Given the description of an element on the screen output the (x, y) to click on. 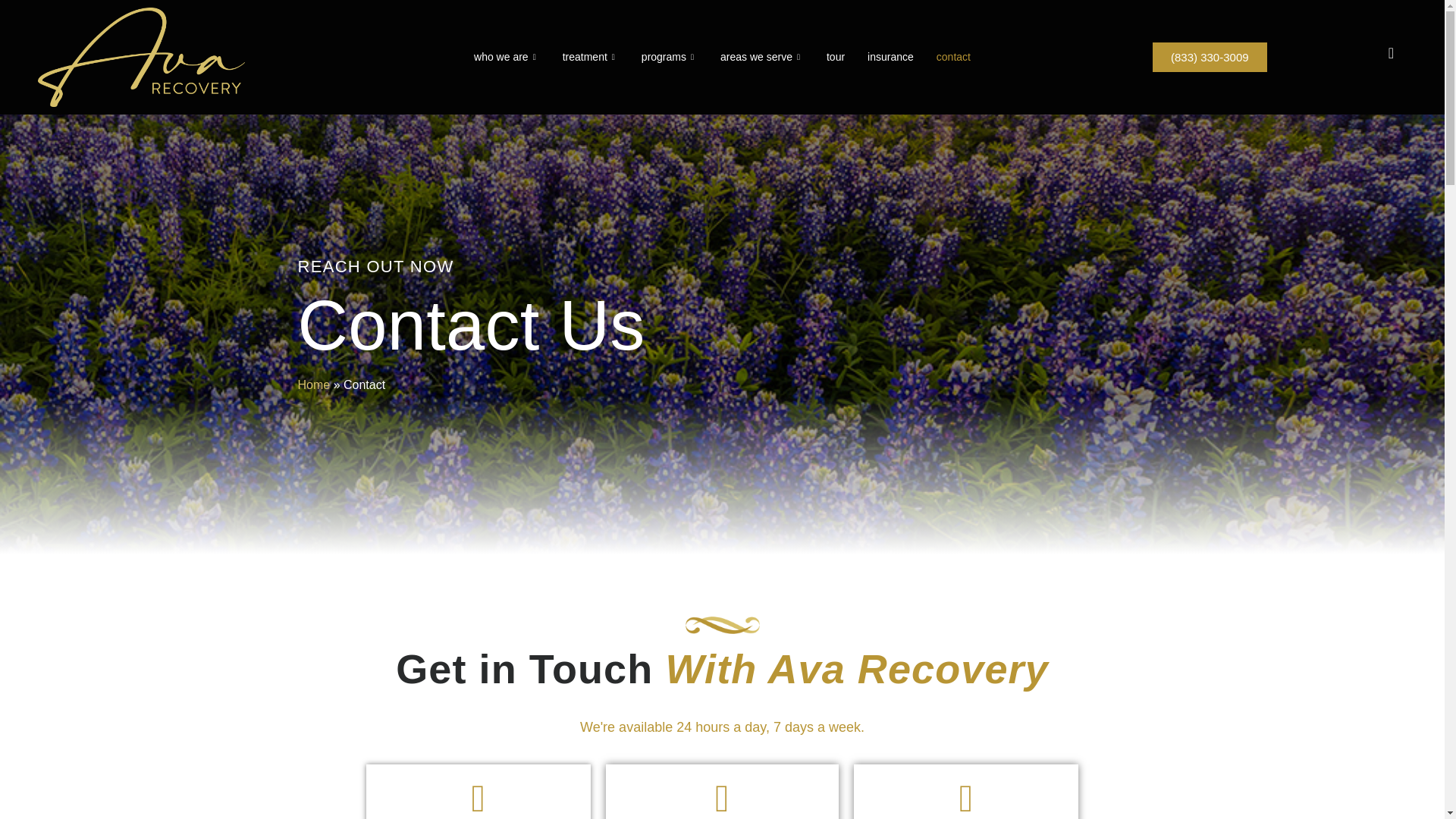
who we are (507, 56)
programs (669, 56)
treatment (590, 56)
areas we serve (762, 56)
